Given the description of an element on the screen output the (x, y) to click on. 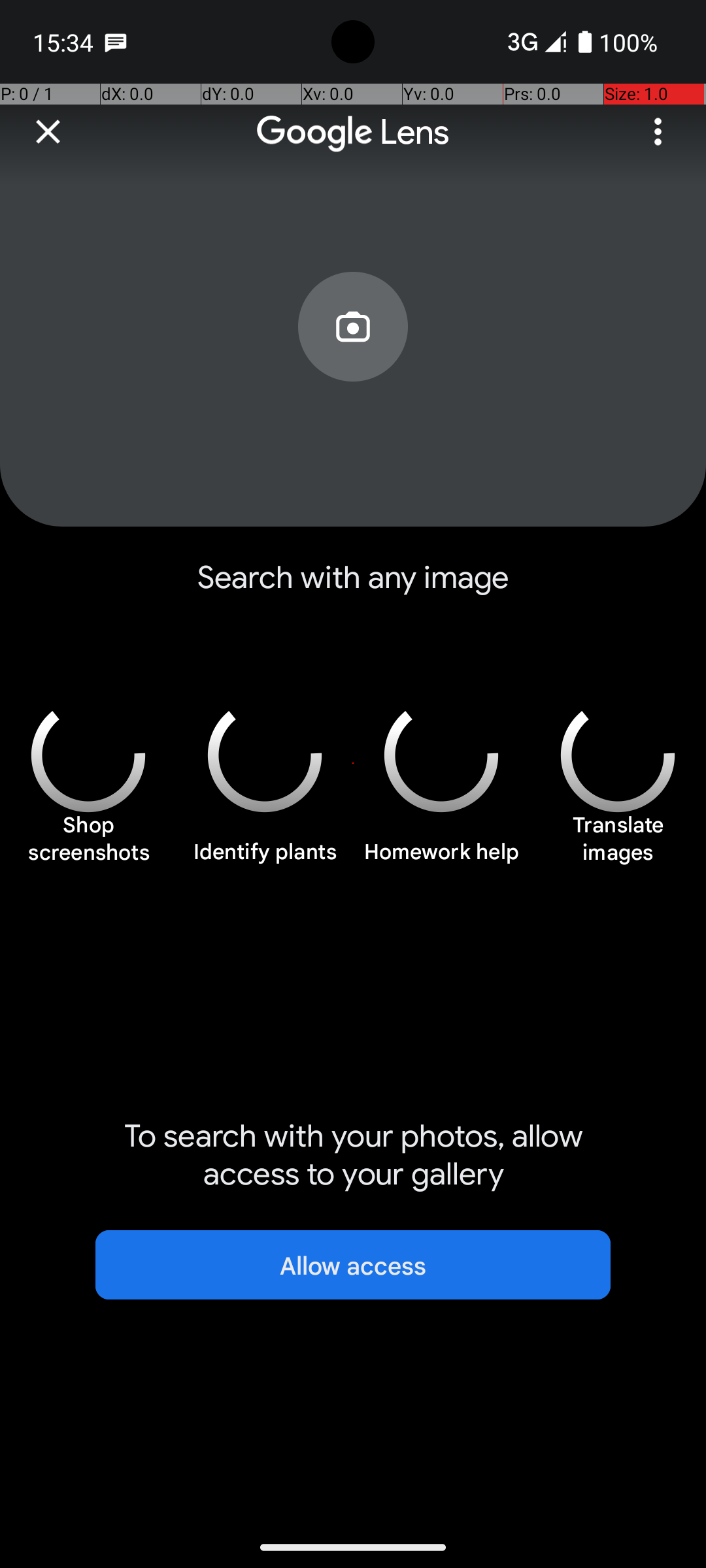
Search with your camera Element type: android.widget.FrameLayout (353, 356)
Search with any image Element type: android.widget.TextView (353, 587)
Shop screenshots Element type: android.widget.TextView (88, 845)
Identify plants Element type: android.widget.TextView (264, 858)
Homework help Element type: android.widget.TextView (441, 858)
Translate images Element type: android.widget.TextView (617, 845)
To search with your photos, allow access to your gallery Element type: android.widget.TextView (352, 1154)
Allow access Element type: android.widget.Button (352, 1264)
